Given the description of an element on the screen output the (x, y) to click on. 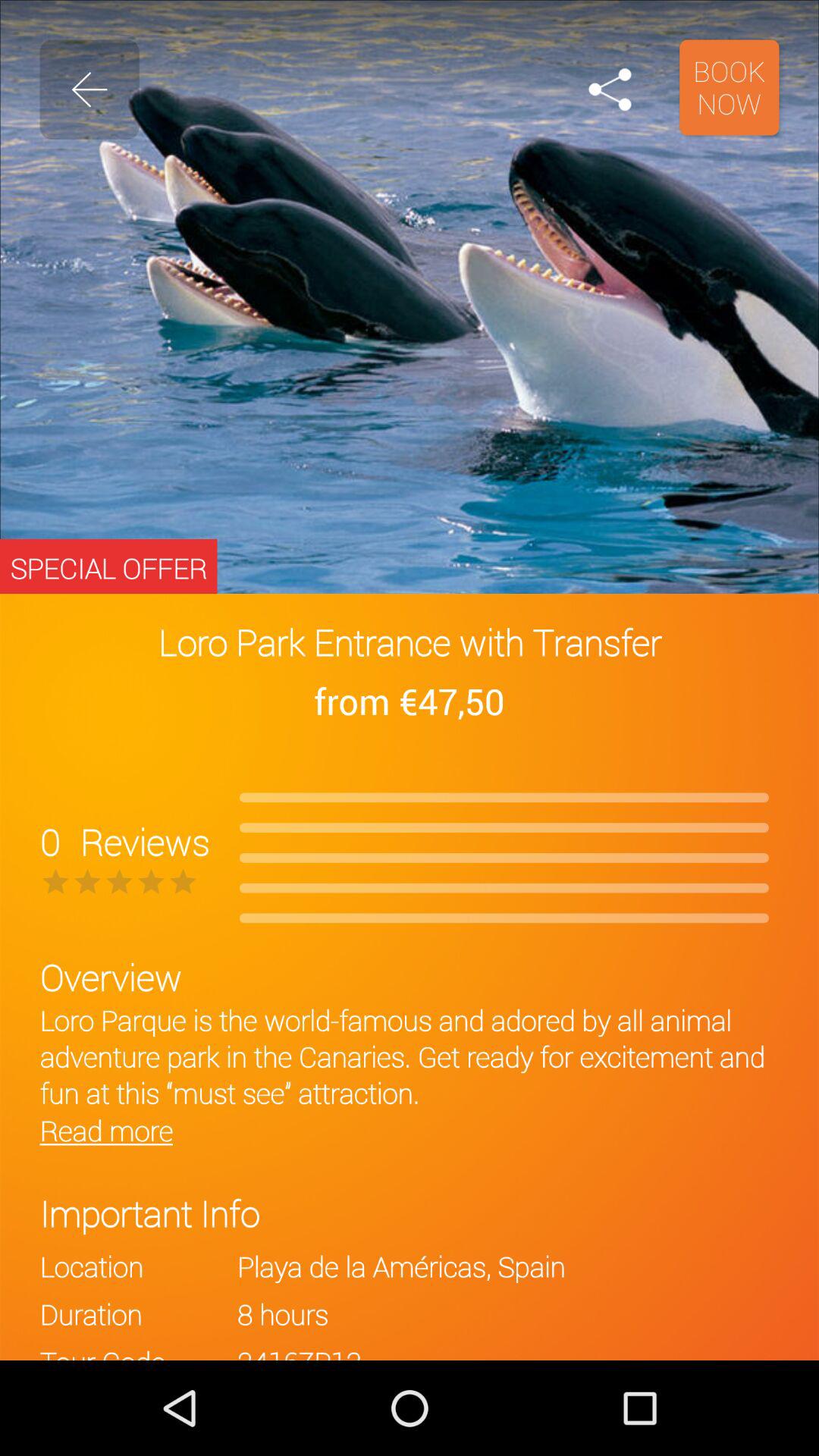
tap item to the left of the book now (609, 89)
